Given the description of an element on the screen output the (x, y) to click on. 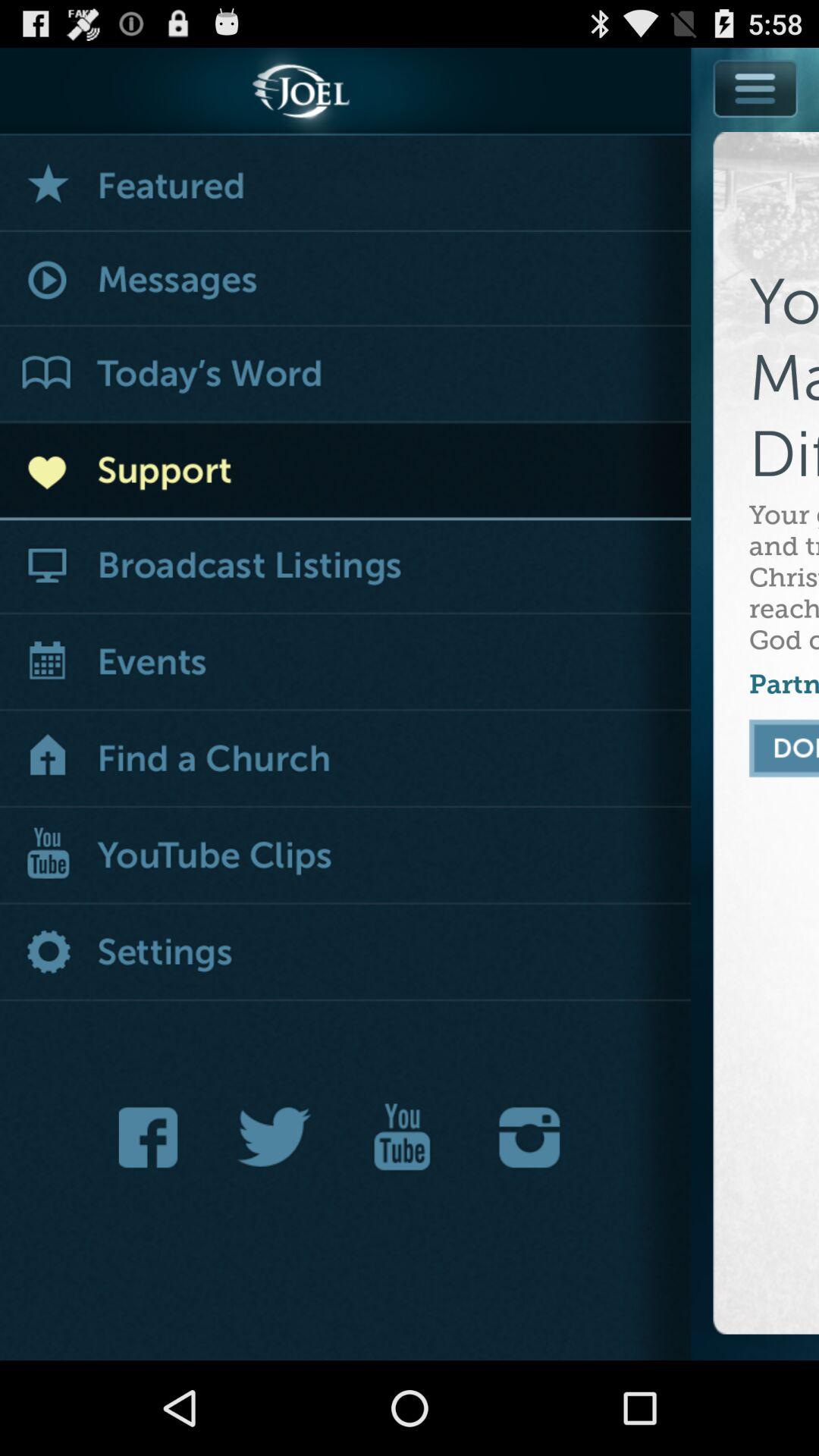
twitter (274, 1137)
